Given the description of an element on the screen output the (x, y) to click on. 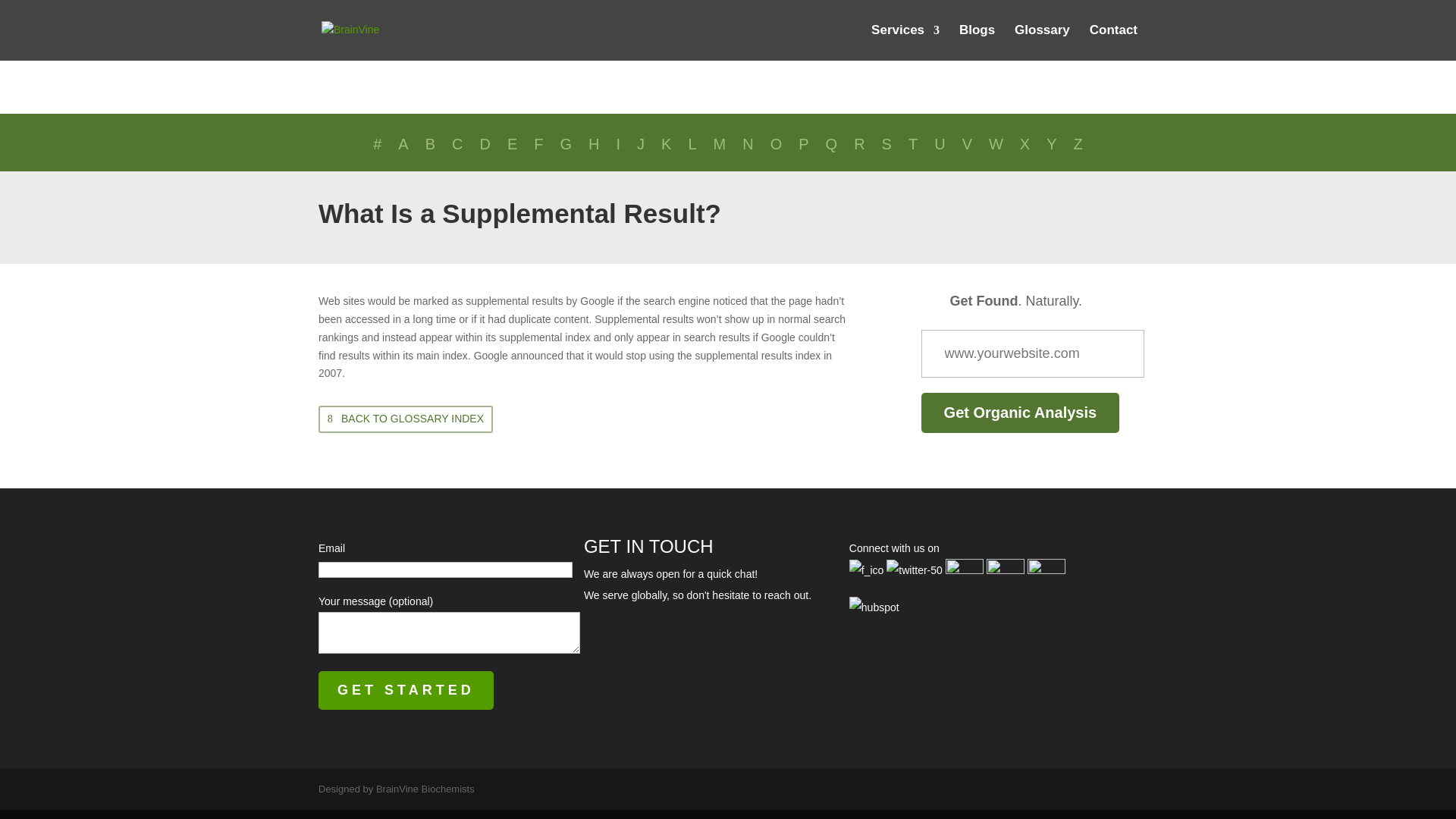
BACK TO GLOSSARY INDEX (405, 419)
Services (904, 42)
Glossary (1042, 42)
Blogs (976, 42)
Get Organic Analysis (1020, 413)
Contact (1113, 42)
Get Started (405, 690)
